Given the description of an element on the screen output the (x, y) to click on. 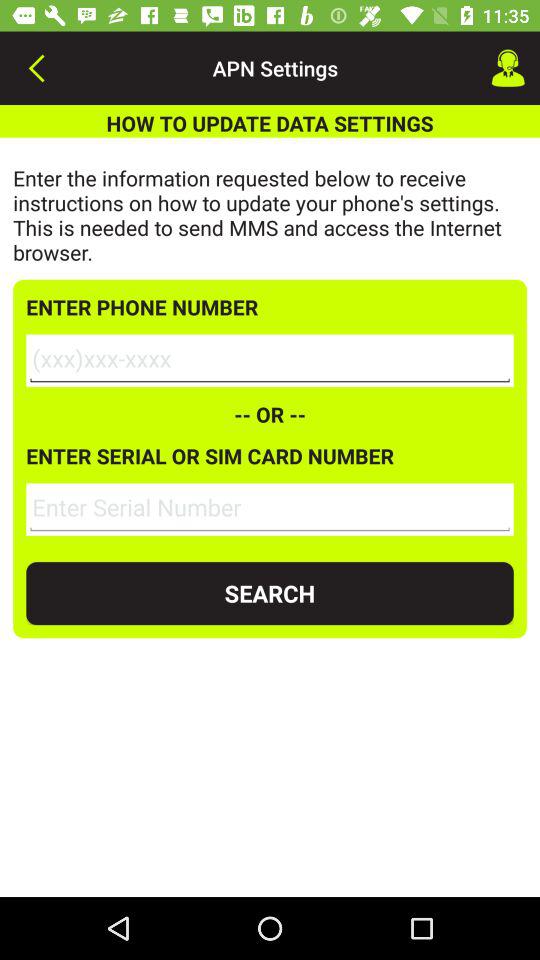
open the icon at the top left corner (36, 68)
